Given the description of an element on the screen output the (x, y) to click on. 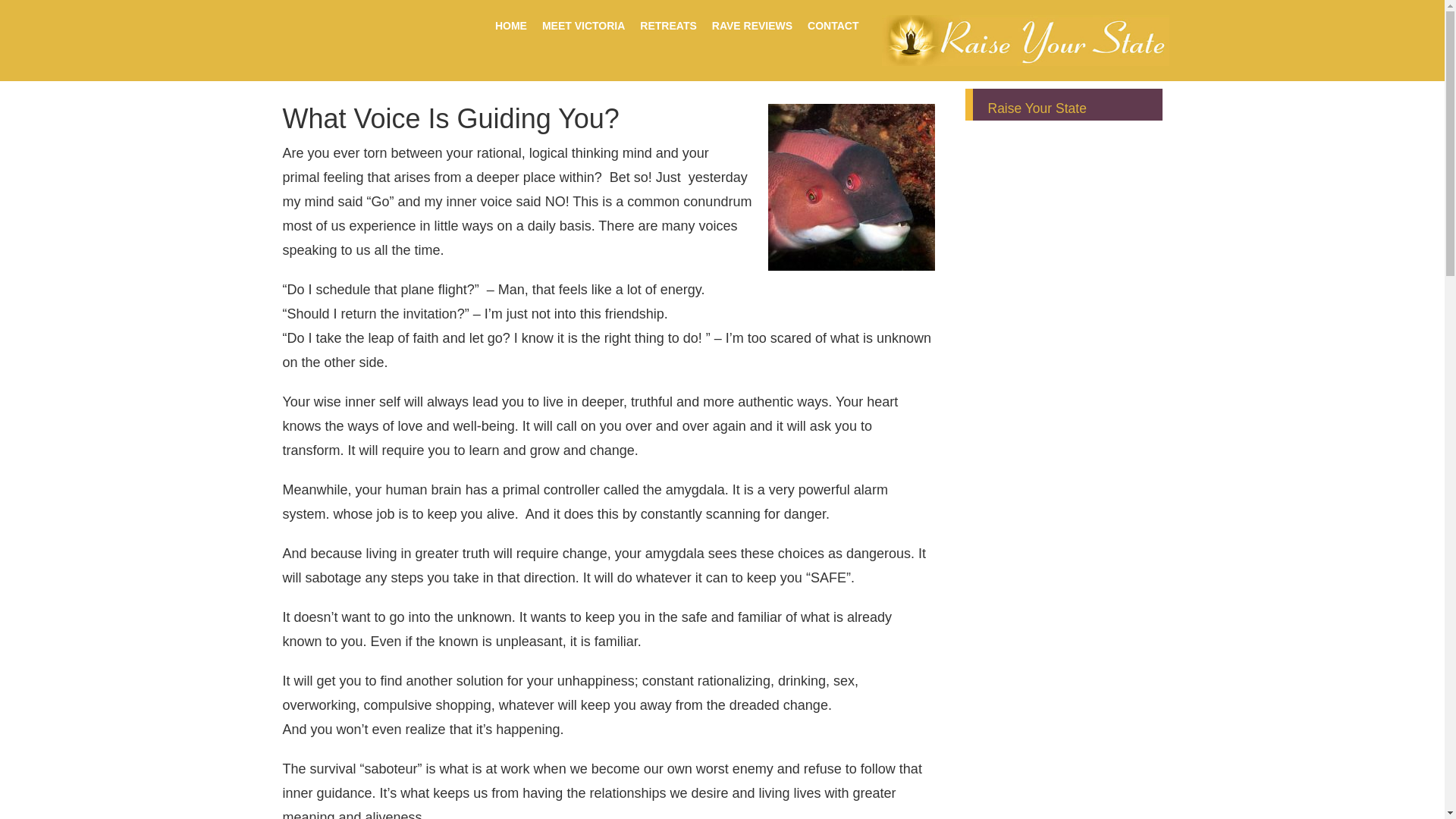
Raise Your State (1036, 108)
HOME (510, 25)
MEET VICTORIA (582, 25)
RETREATS (667, 25)
CONTACT (832, 25)
RAVE REVIEWS (751, 25)
